Given the description of an element on the screen output the (x, y) to click on. 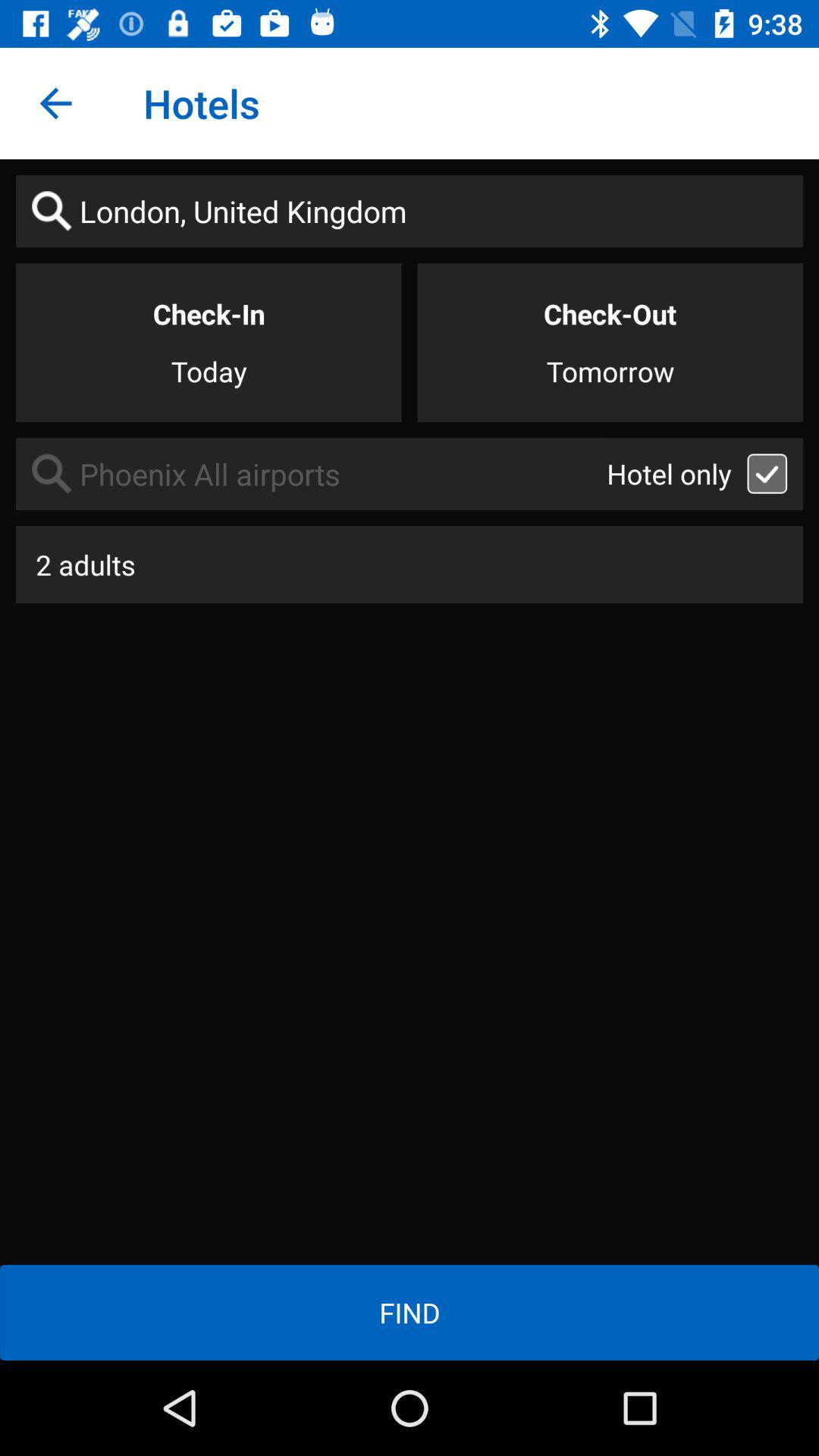
press icon below the 2 adults icon (409, 1312)
